Given the description of an element on the screen output the (x, y) to click on. 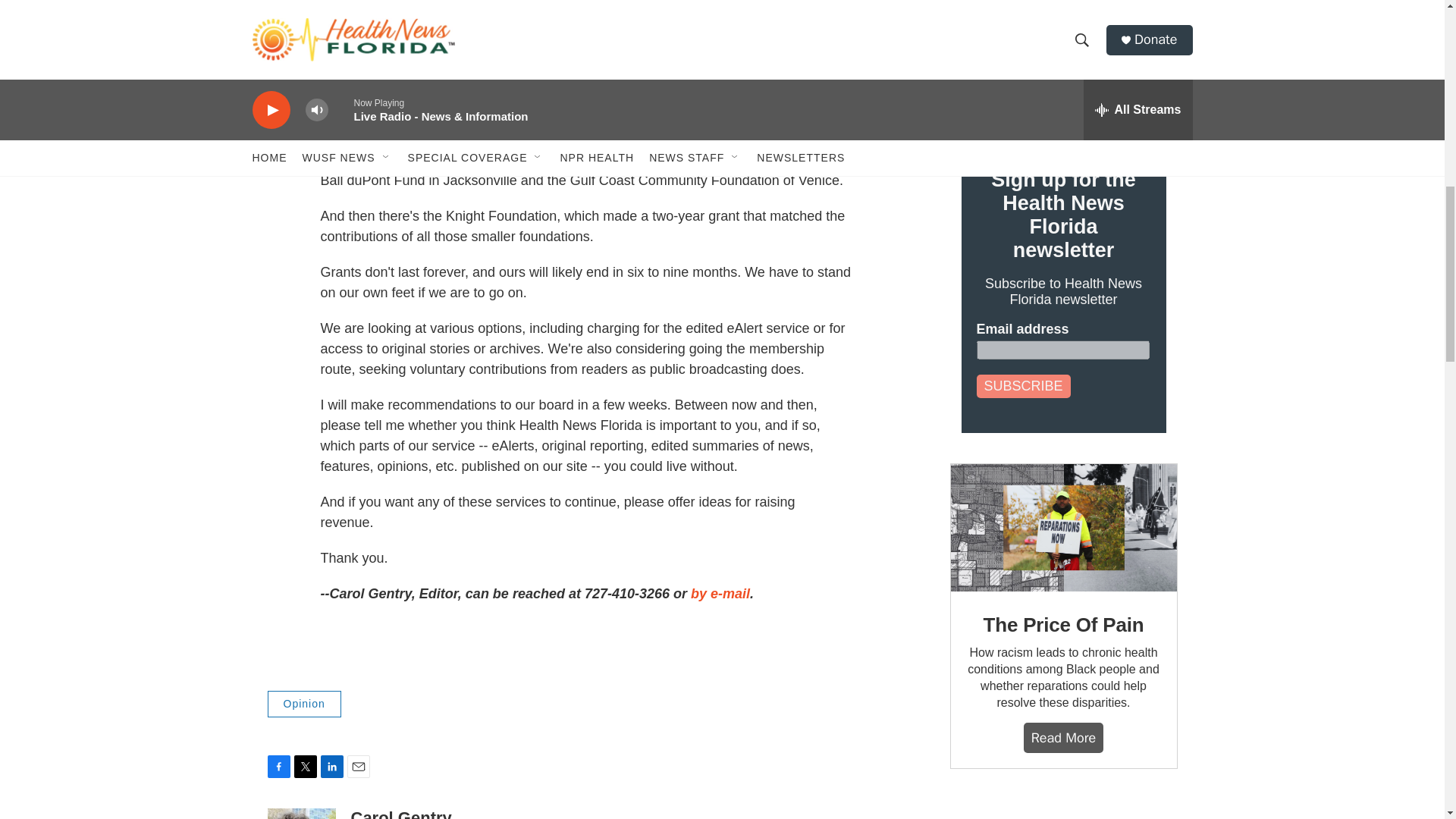
3rd party ad content (1062, 809)
